Given the description of an element on the screen output the (x, y) to click on. 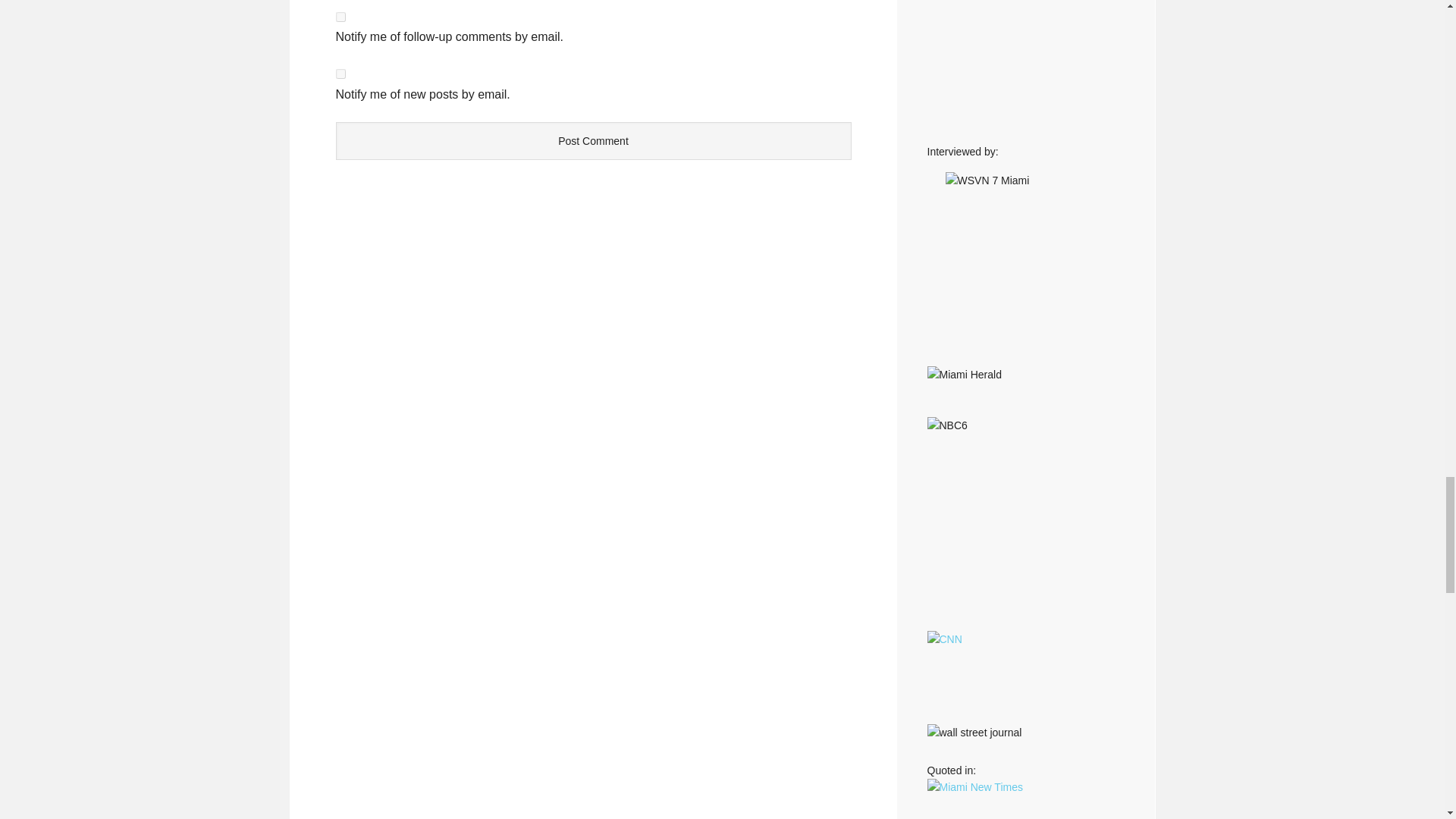
subscribe (339, 17)
subscribe (339, 73)
Post Comment (592, 140)
